Given the description of an element on the screen output the (x, y) to click on. 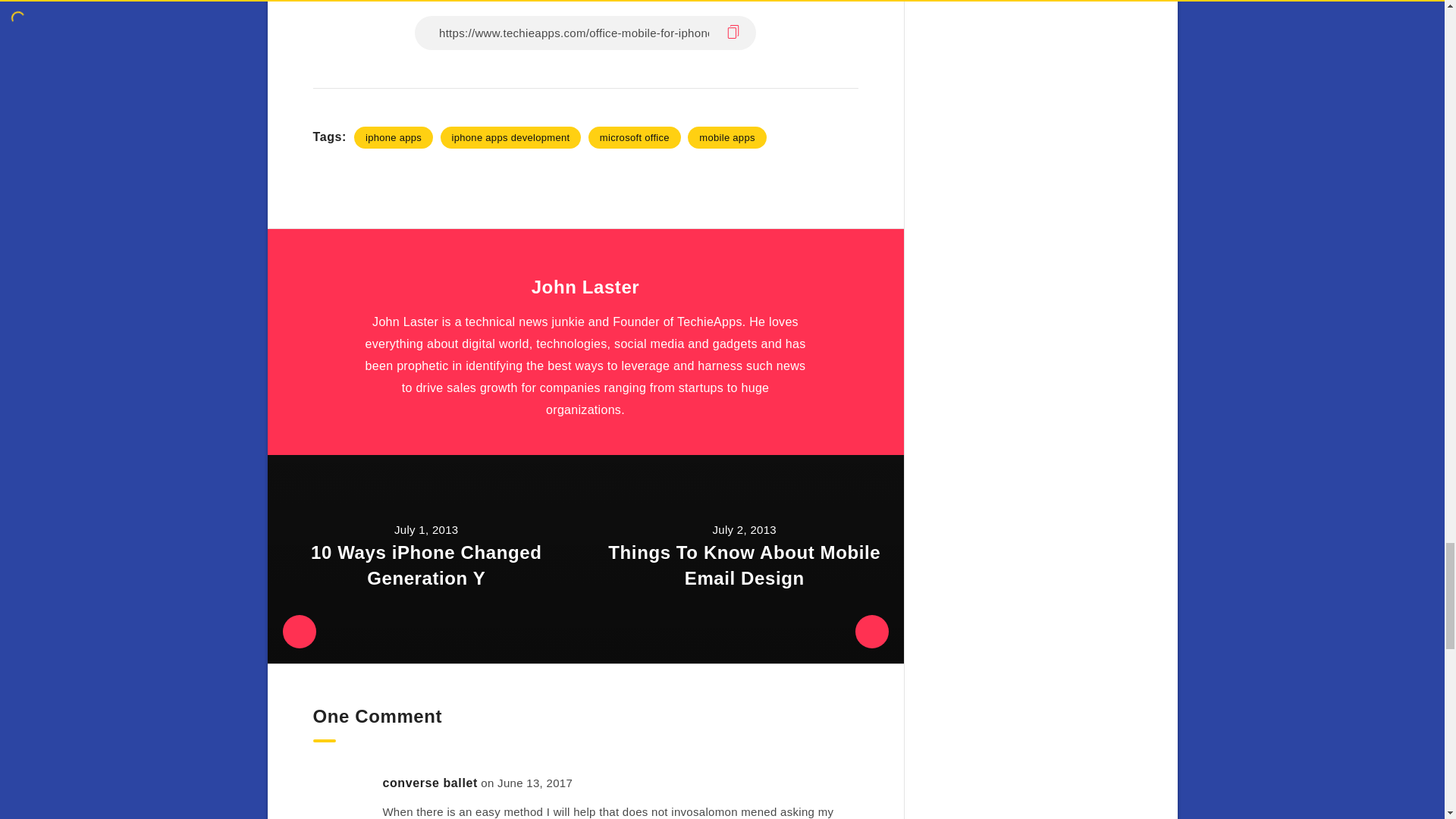
iphone apps (392, 137)
John Laster (585, 287)
microsoft office (634, 137)
iphone apps development (510, 137)
mobile apps (726, 137)
